Given the description of an element on the screen output the (x, y) to click on. 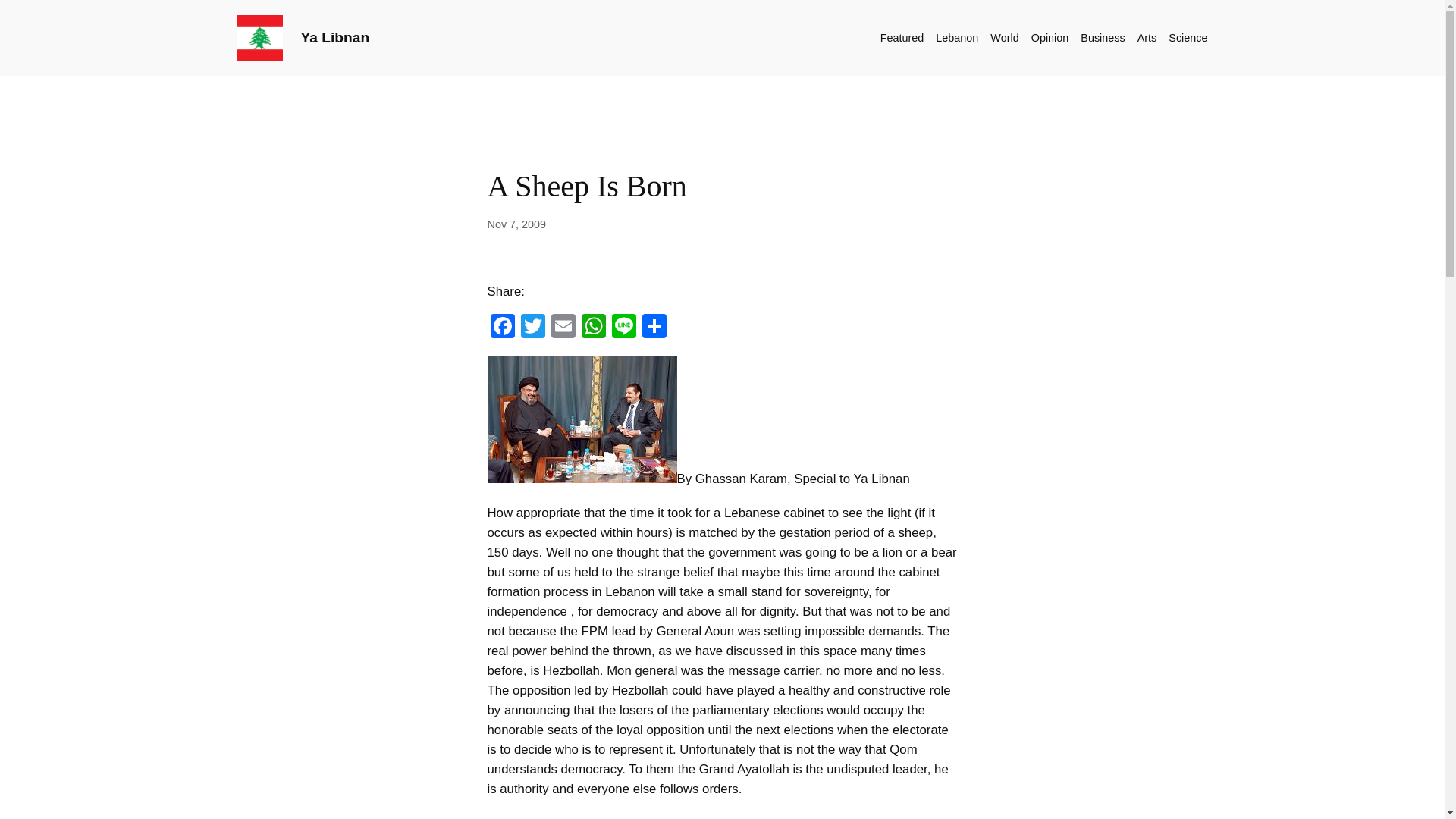
Nov 7, 2009 (516, 224)
WhatsApp (593, 327)
Business (1102, 37)
Ya Libnan (334, 37)
Lebanon (957, 37)
Twitter (531, 327)
Arts (1147, 37)
Email (562, 327)
Email (562, 327)
Twitter (531, 327)
Featured (902, 37)
Facebook (501, 327)
Line (623, 327)
hariri nasrallah 1026 s (581, 419)
World (1003, 37)
